Given the description of an element on the screen output the (x, y) to click on. 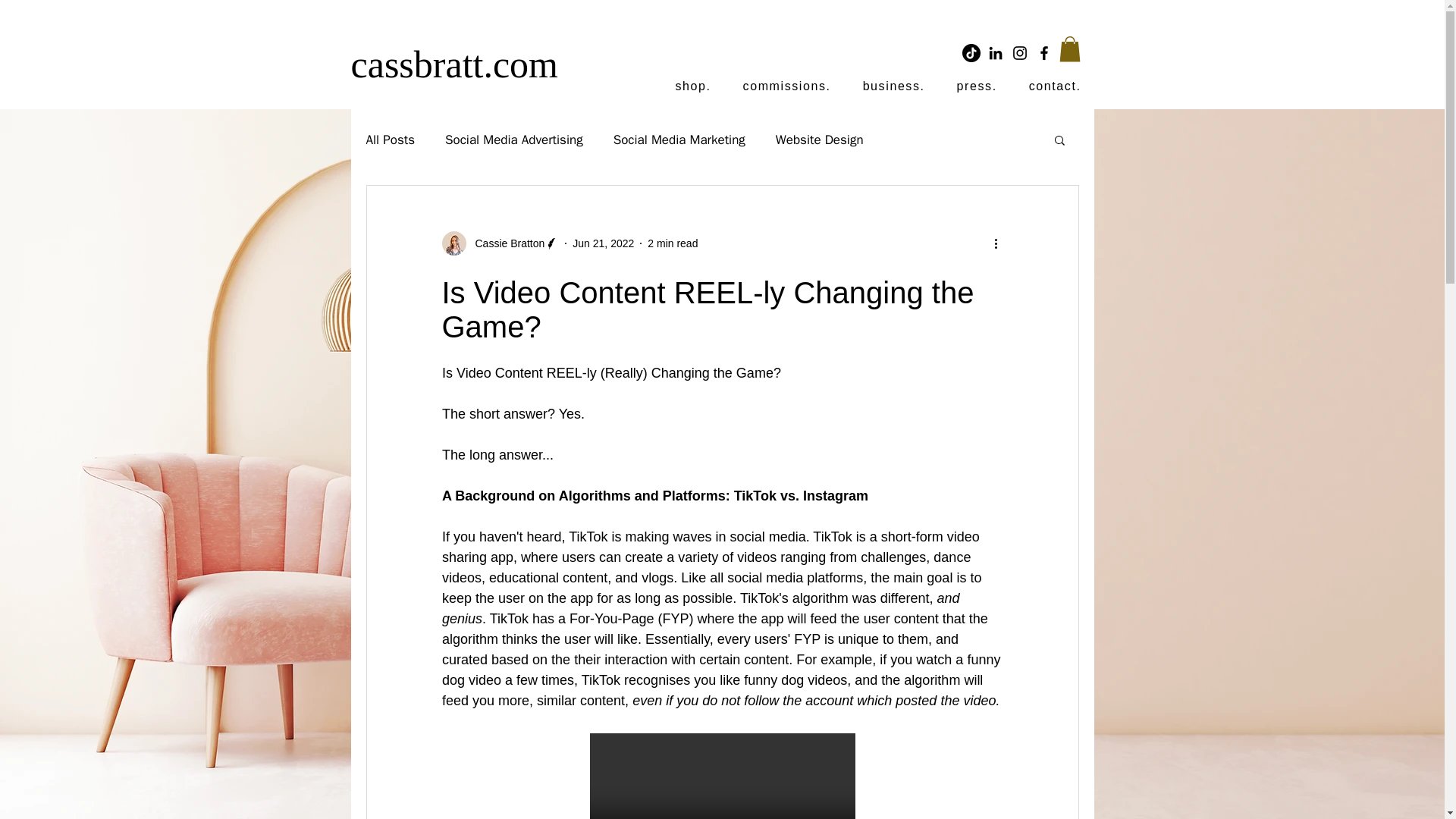
press. (976, 87)
contact. (1055, 87)
cassbratt.com (453, 64)
All Posts (389, 139)
Jun 21, 2022 (602, 242)
commissions. (787, 87)
Website Design (819, 139)
2 min read (672, 242)
Cassie Bratton (504, 242)
Social Media Advertising (514, 139)
